Given the description of an element on the screen output the (x, y) to click on. 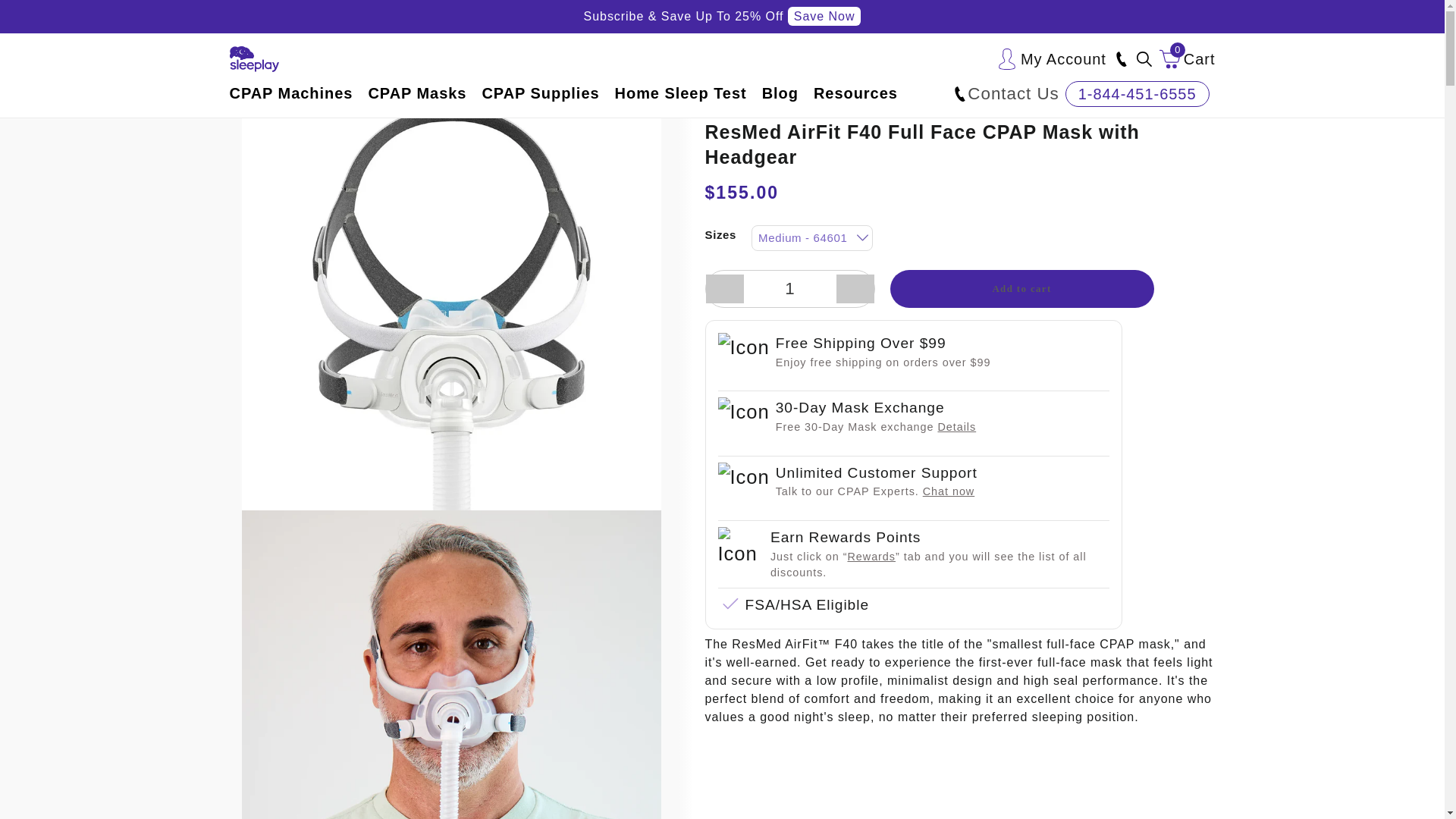
Skip to content (1050, 58)
1 (1186, 58)
Save Now (35, 18)
